Given the description of an element on the screen output the (x, y) to click on. 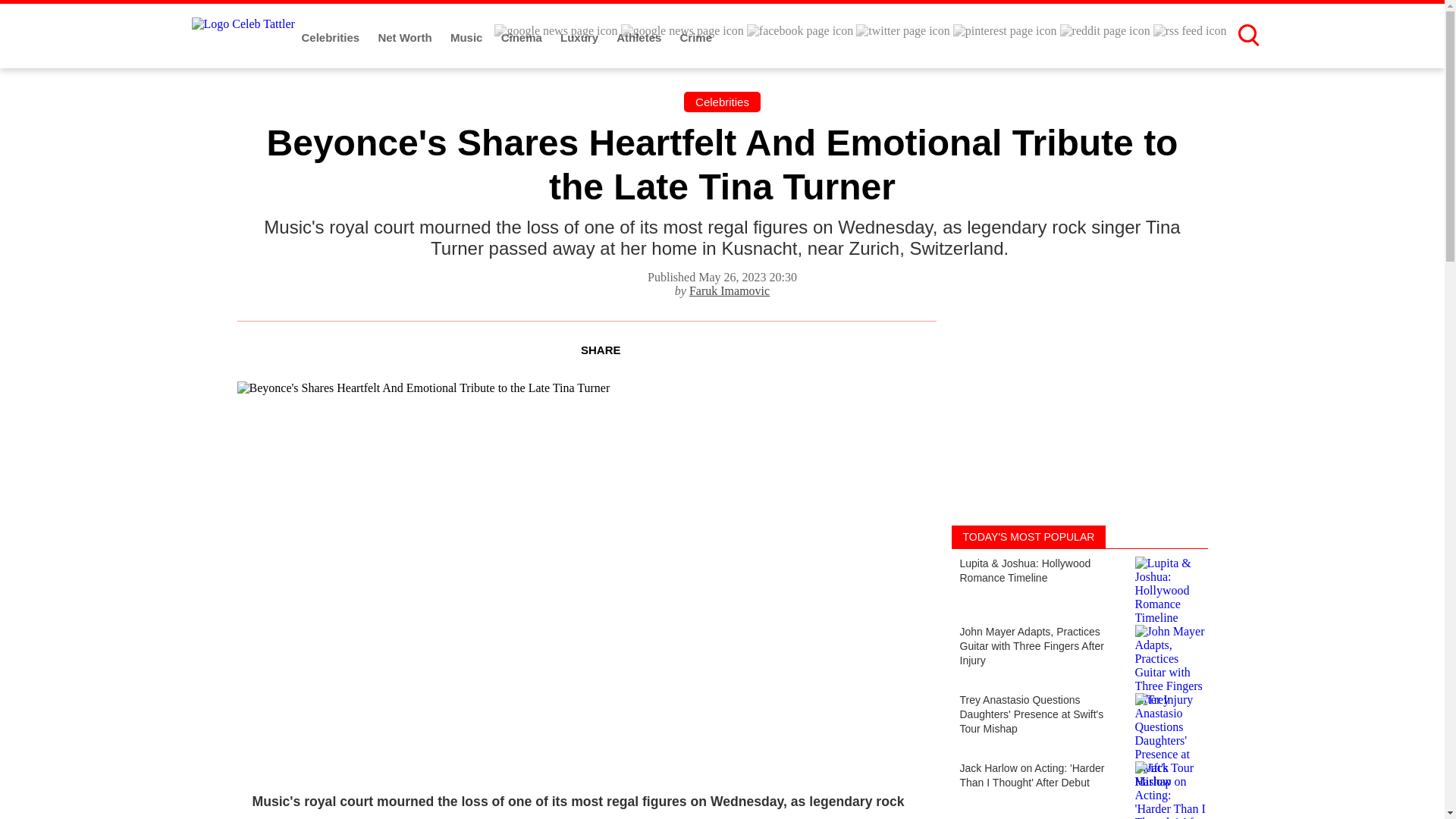
Cinema (522, 37)
Music (467, 37)
Faruk Imamovic (729, 290)
Celebrities (722, 101)
Crime (696, 37)
Luxury (580, 37)
Athletes (639, 37)
Net Worth (406, 37)
Celebrities (331, 37)
